Given the description of an element on the screen output the (x, y) to click on. 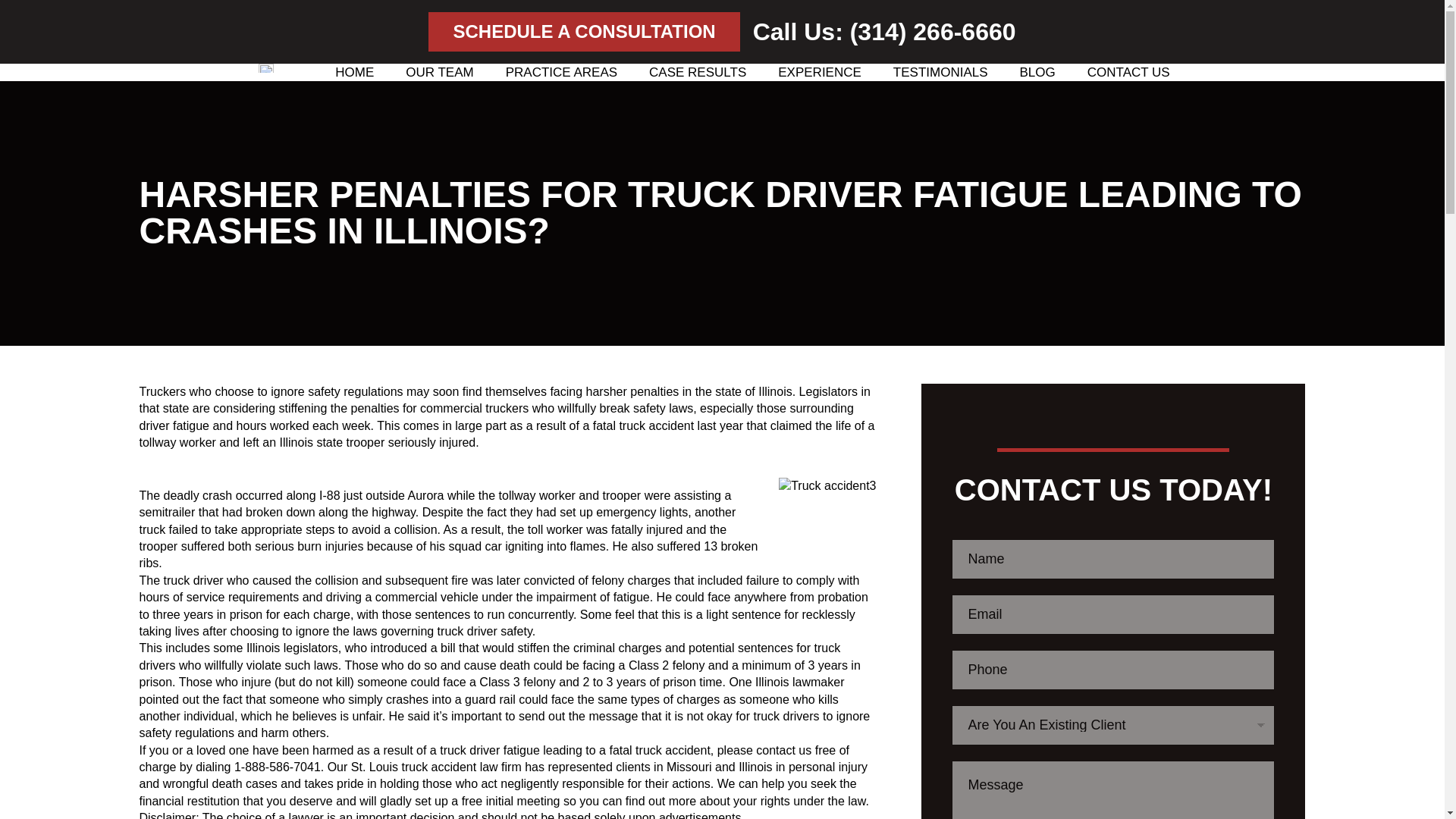
EXPERIENCE (819, 72)
SCHEDULE A CONSULTATION (583, 31)
BLOG (1037, 72)
PRACTICE AREAS (561, 72)
HOME (354, 72)
CASE RESULTS (697, 72)
CONTACT US (1128, 72)
TESTIMONIALS (940, 72)
OUR TEAM (439, 72)
